Given the description of an element on the screen output the (x, y) to click on. 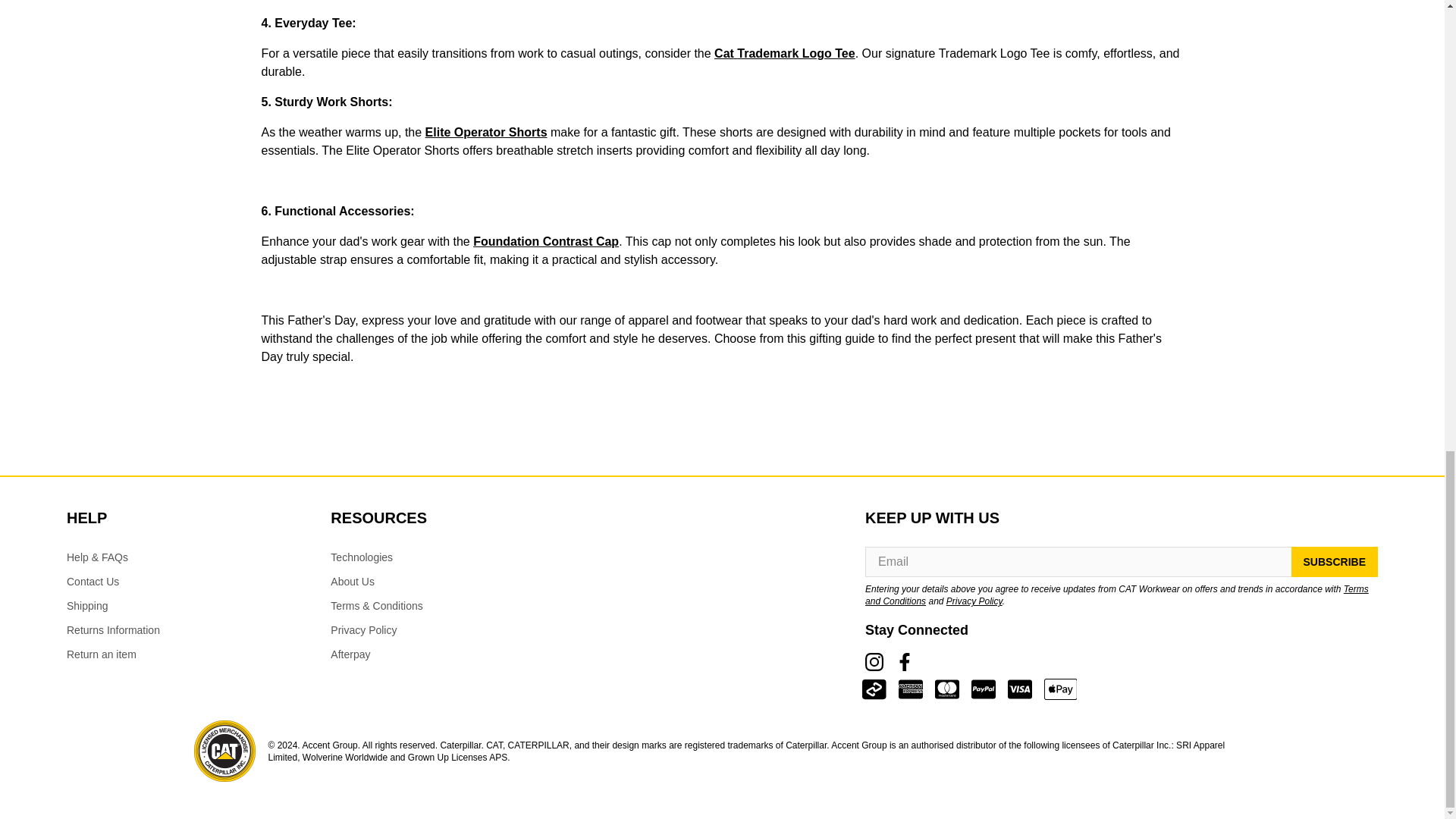
Visit our Instagram page (874, 662)
Visit our Facebook page (904, 662)
